Given the description of an element on the screen output the (x, y) to click on. 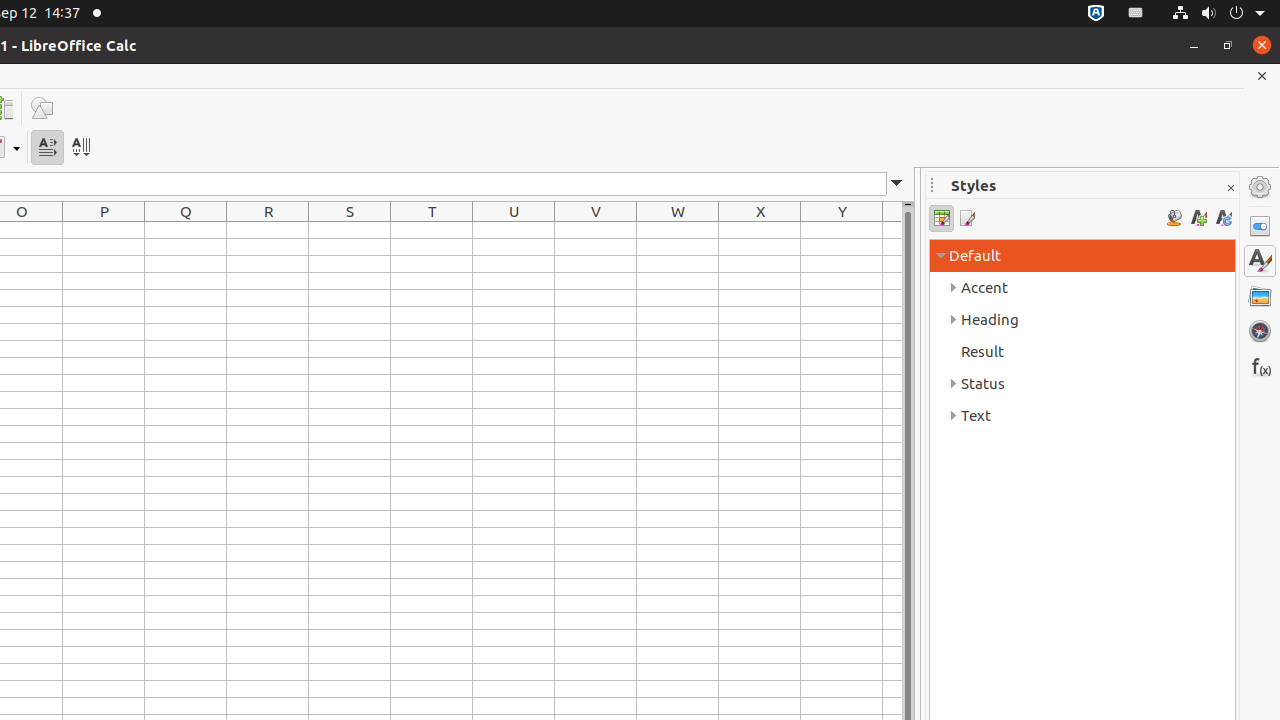
Q1 Element type: table-cell (186, 230)
S1 Element type: table-cell (350, 230)
R1 Element type: table-cell (268, 230)
Styles Element type: radio-button (1260, 261)
Text direction from left to right Element type: toggle-button (47, 147)
